Given the description of an element on the screen output the (x, y) to click on. 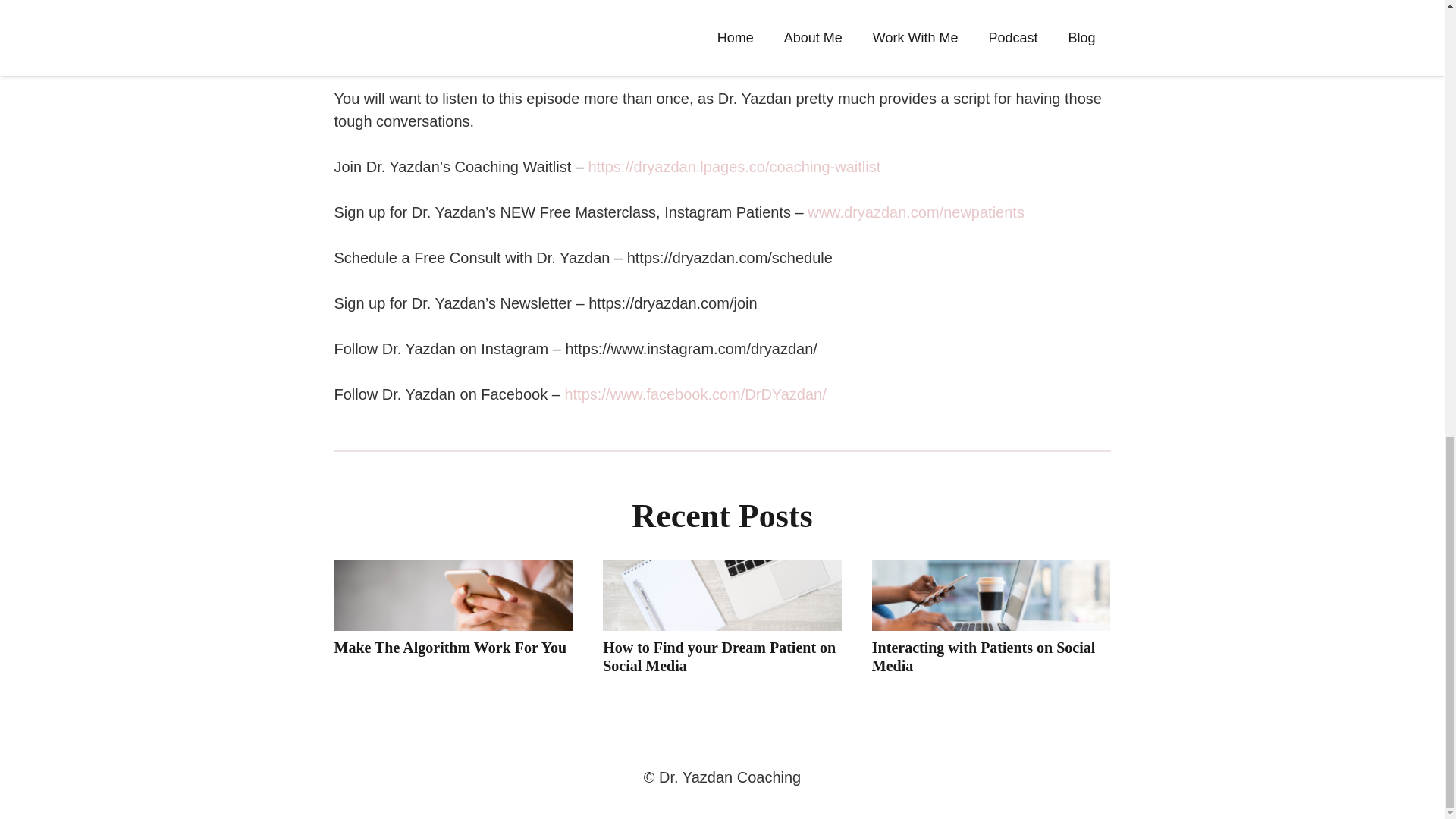
Interacting with Patients on Social Media (983, 656)
Make The Algorithm Work For You (449, 647)
How to Find your Dream Patient on Social Media (718, 656)
